Given the description of an element on the screen output the (x, y) to click on. 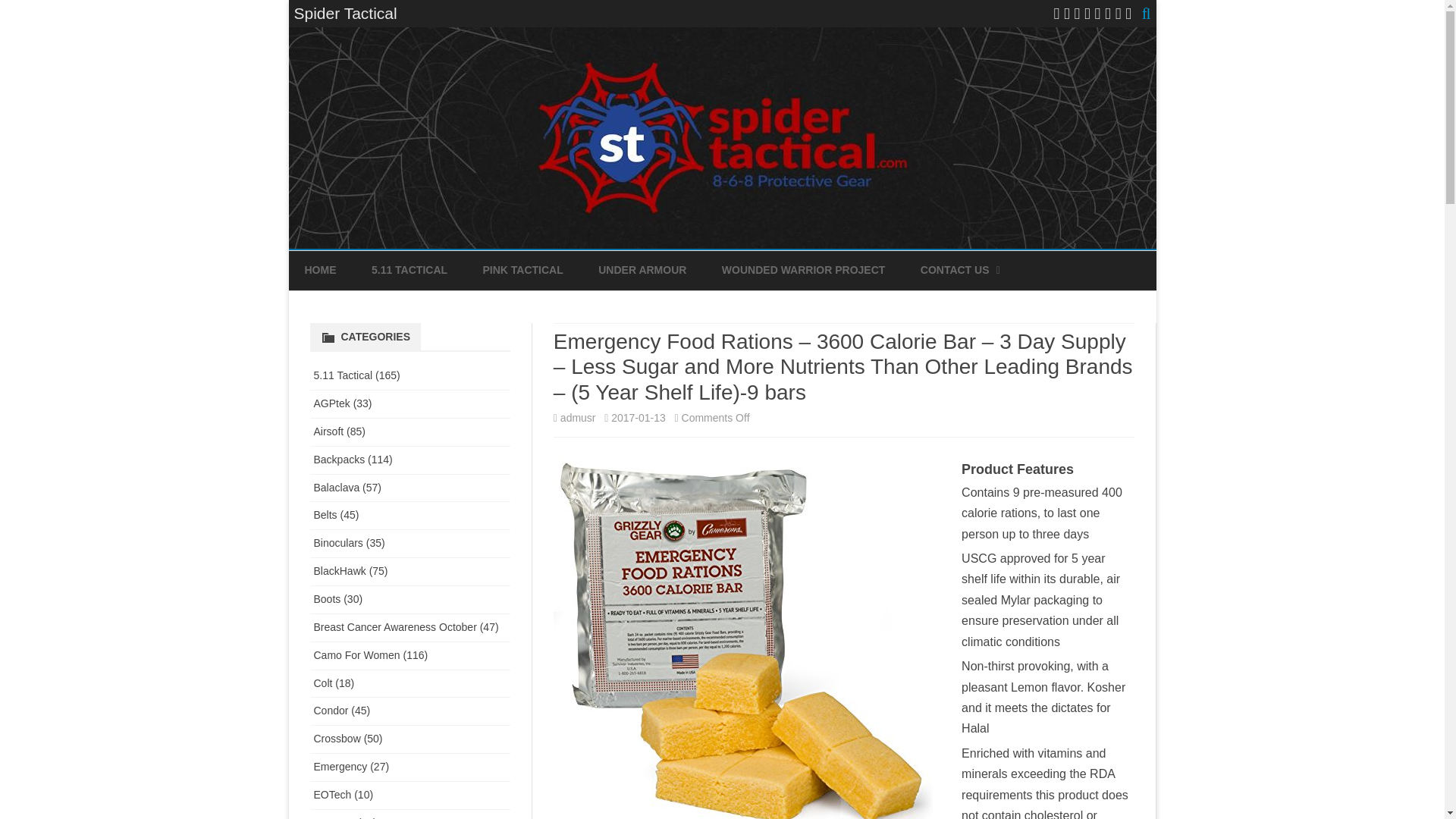
WOUNDED WARRIOR PROJECT (803, 270)
TOS DISCLOSURE (995, 305)
CONTACT US (955, 270)
PINK TACTICAL (521, 270)
UNDER ARMOUR (641, 270)
5.11 TACTICAL (408, 270)
admusr (577, 417)
